Given the description of an element on the screen output the (x, y) to click on. 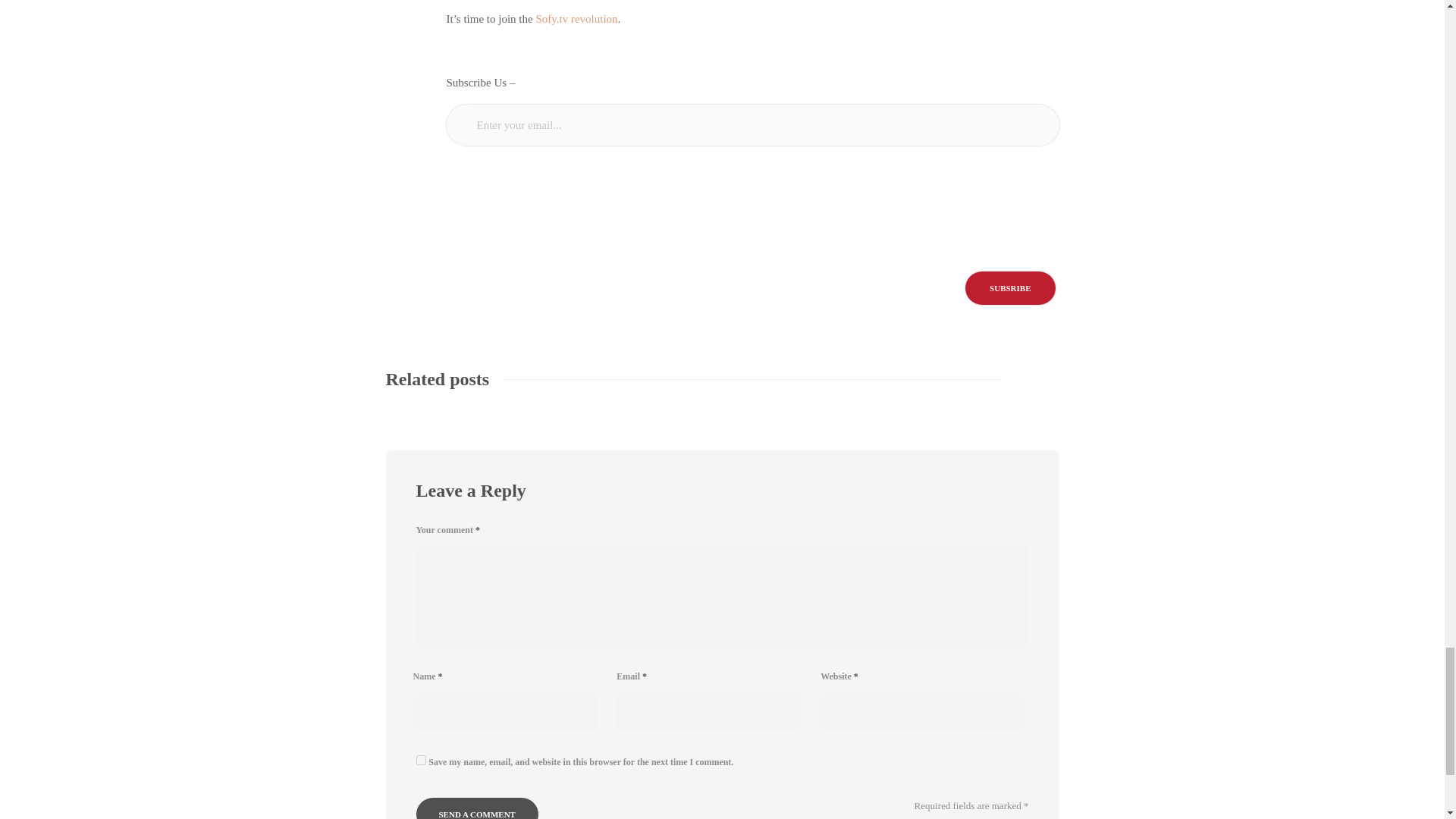
Subsribe (1009, 287)
Send a comment (475, 808)
yes (419, 759)
